Given the description of an element on the screen output the (x, y) to click on. 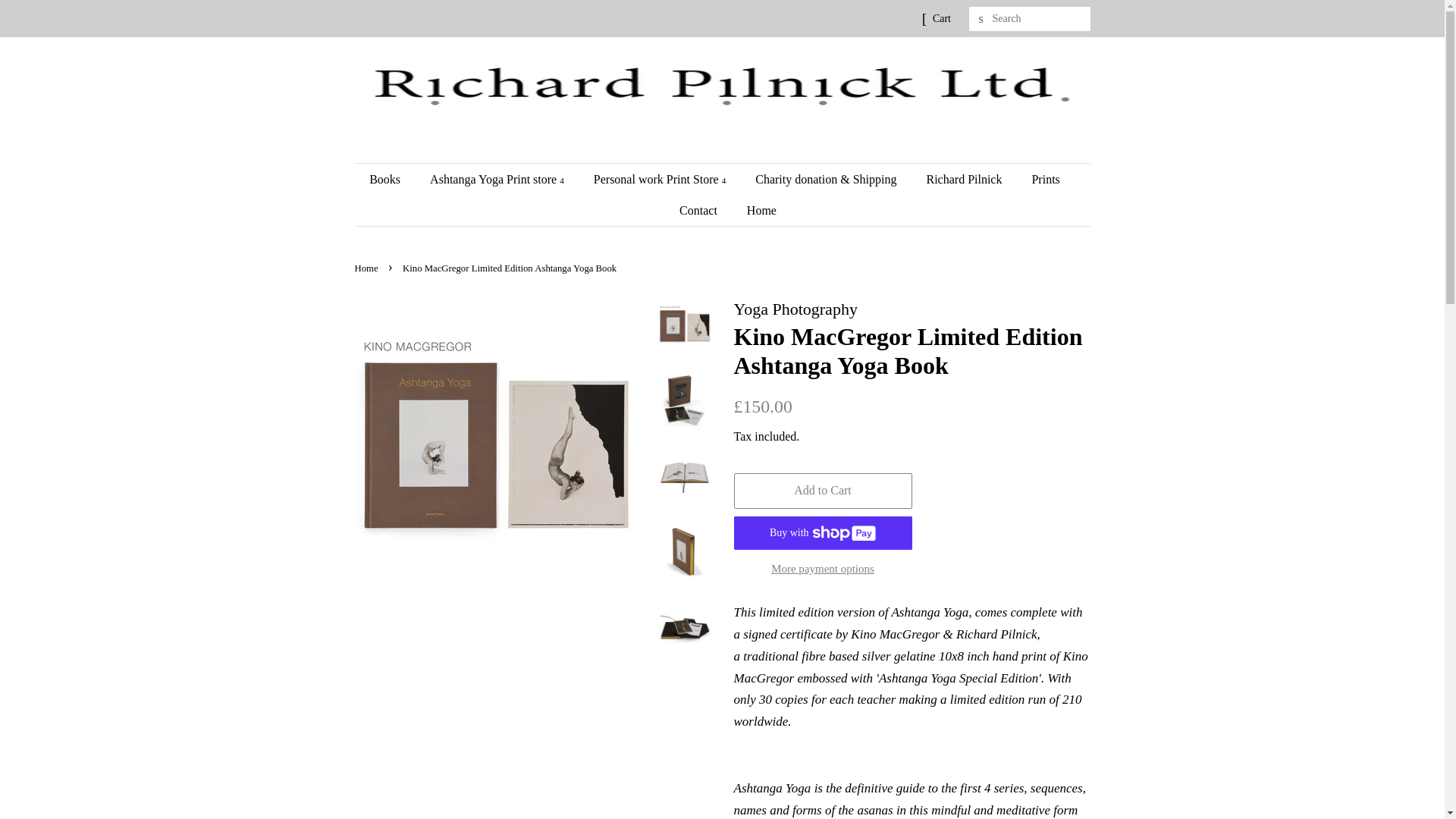
Search (980, 18)
Personal work Print Store (661, 178)
Books (391, 178)
Cart (941, 18)
Ashtanga Yoga Print store (499, 178)
Back to the frontpage (368, 267)
